Given the description of an element on the screen output the (x, y) to click on. 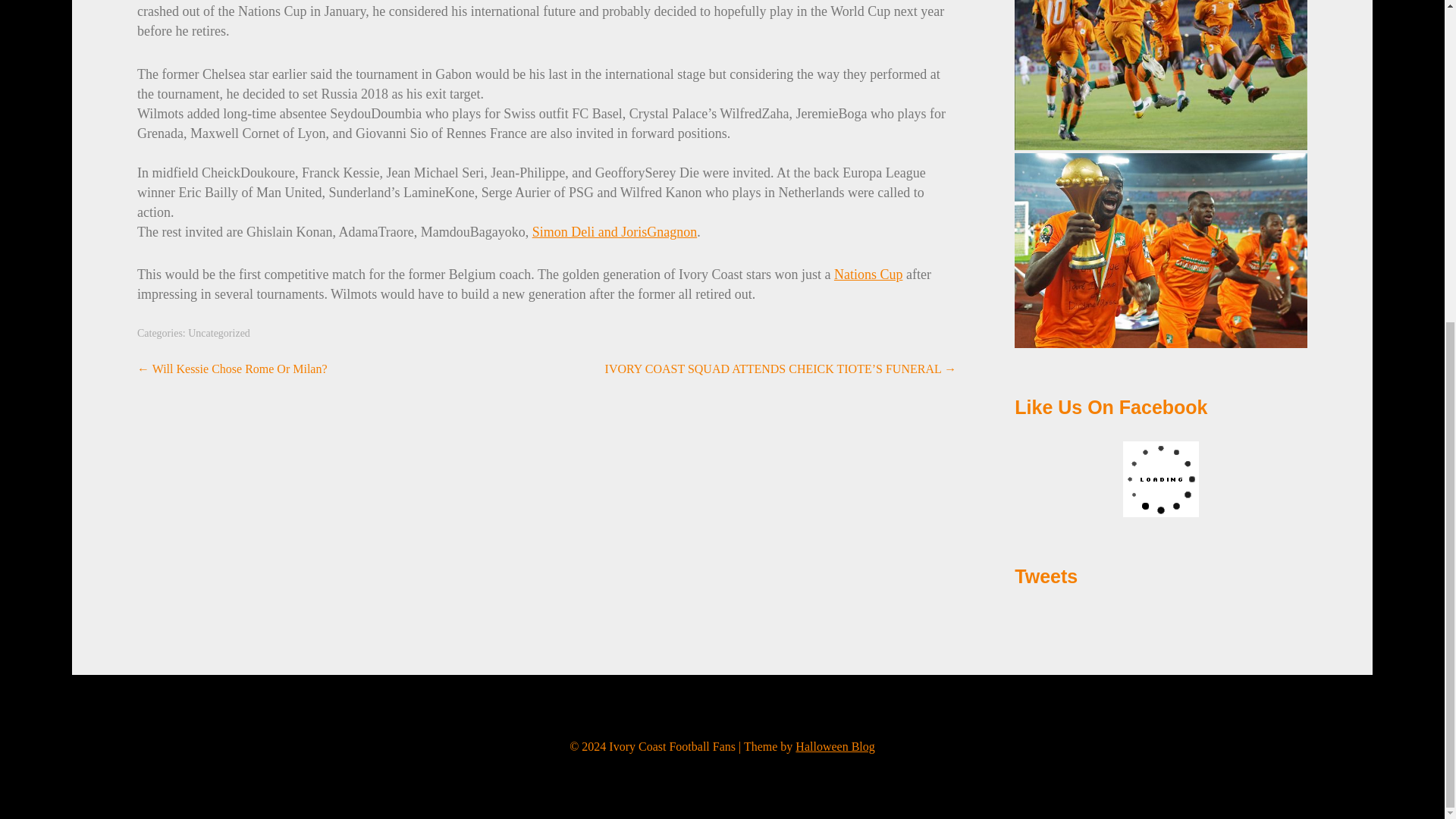
Halloween Blog (834, 746)
Nations Cup (868, 273)
Simon Deli and JorisGnagnon (614, 231)
